Given the description of an element on the screen output the (x, y) to click on. 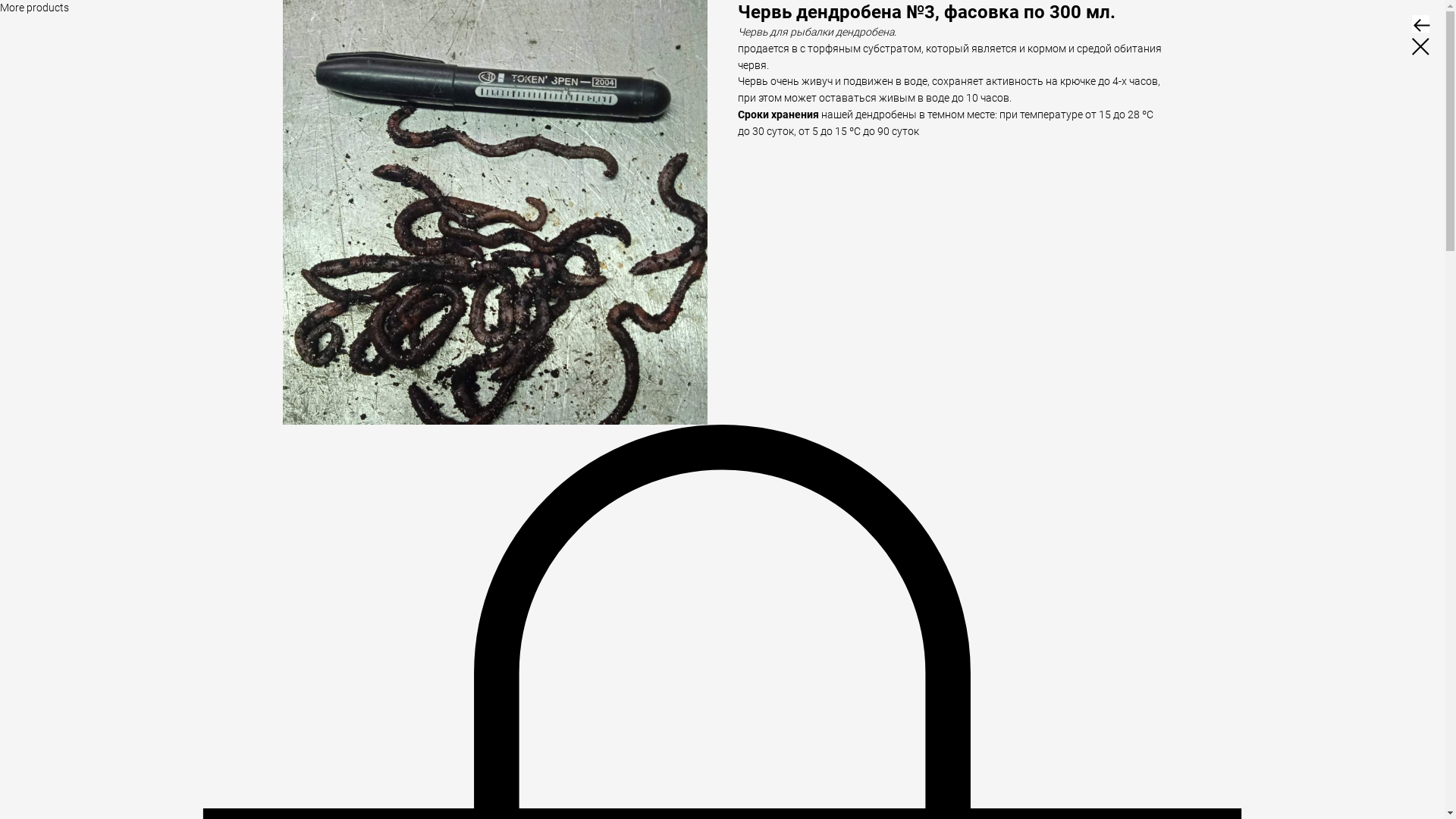
More products Element type: text (34, 7)
